Given the description of an element on the screen output the (x, y) to click on. 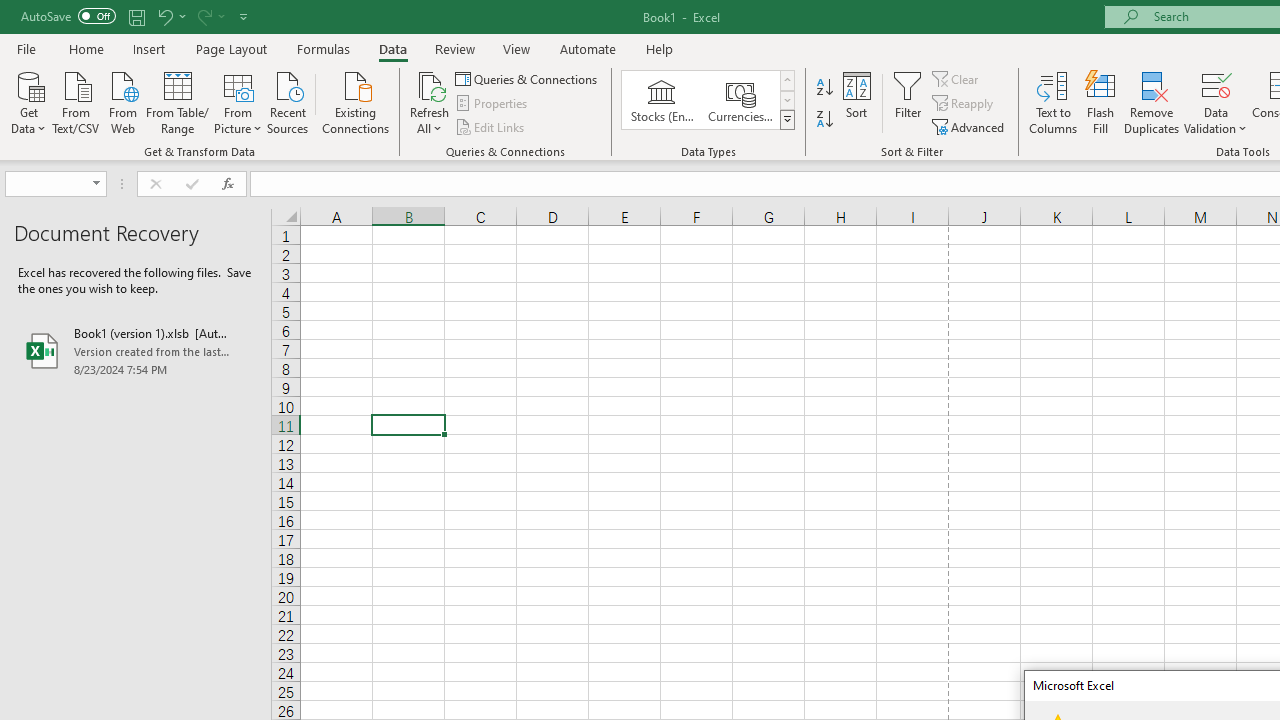
Help (660, 48)
Edit Links (491, 126)
From Web (122, 101)
Filter (908, 102)
Customize Quick Access Toolbar (244, 15)
AutomationID: ConvertToLinkedEntity (708, 99)
Row Down (786, 100)
Existing Connections (355, 101)
More Options (1215, 121)
Formulas (323, 48)
Row up (786, 79)
Reapply (964, 103)
Insert (149, 48)
Stocks (English) (662, 100)
Automate (588, 48)
